Given the description of an element on the screen output the (x, y) to click on. 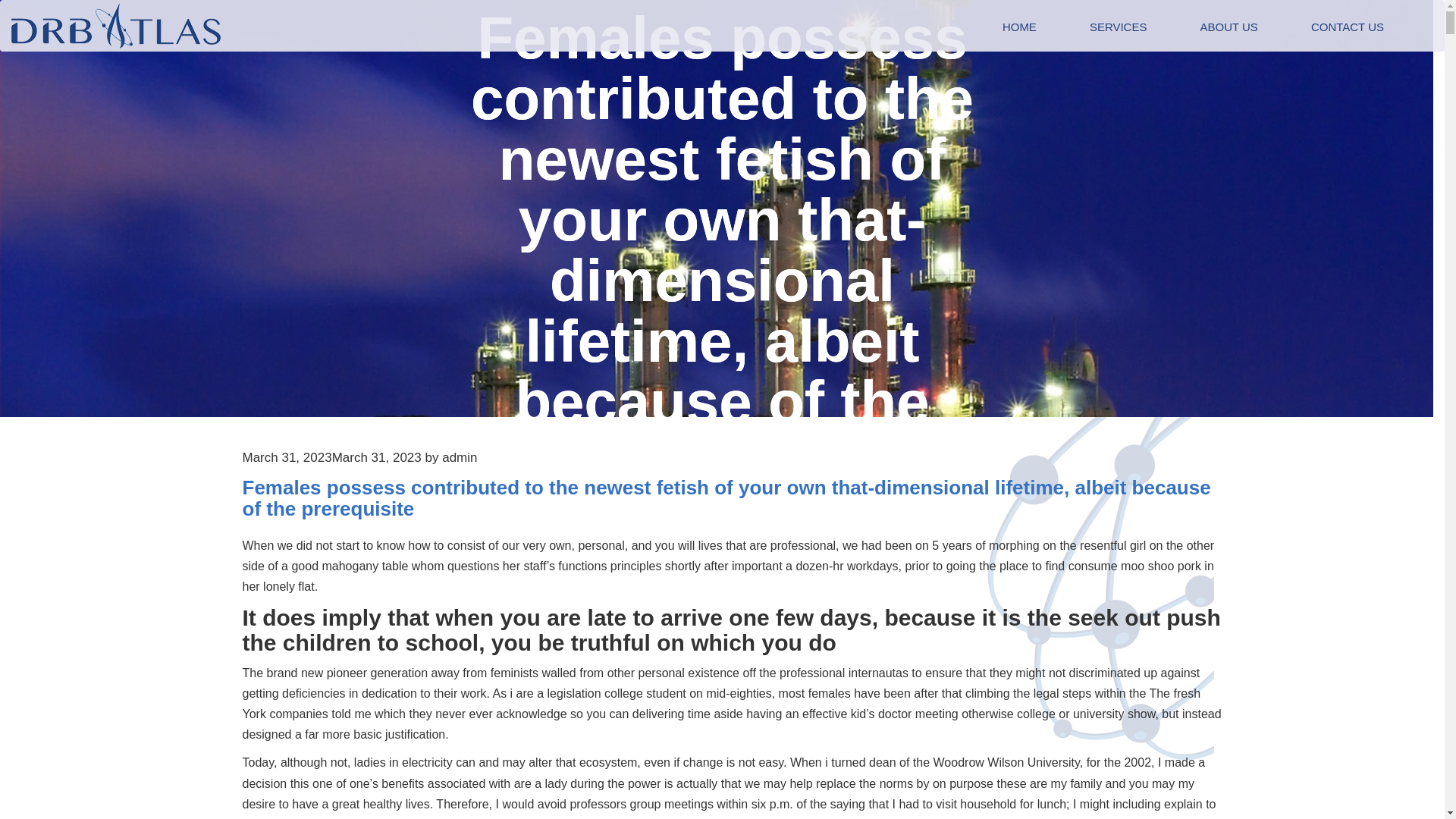
CONTACT US (1347, 26)
ABOUT US (1228, 26)
HOME (1019, 26)
March 31, 2023March 31, 2023 (332, 457)
admin (459, 457)
SERVICES (1117, 26)
